Given the description of an element on the screen output the (x, y) to click on. 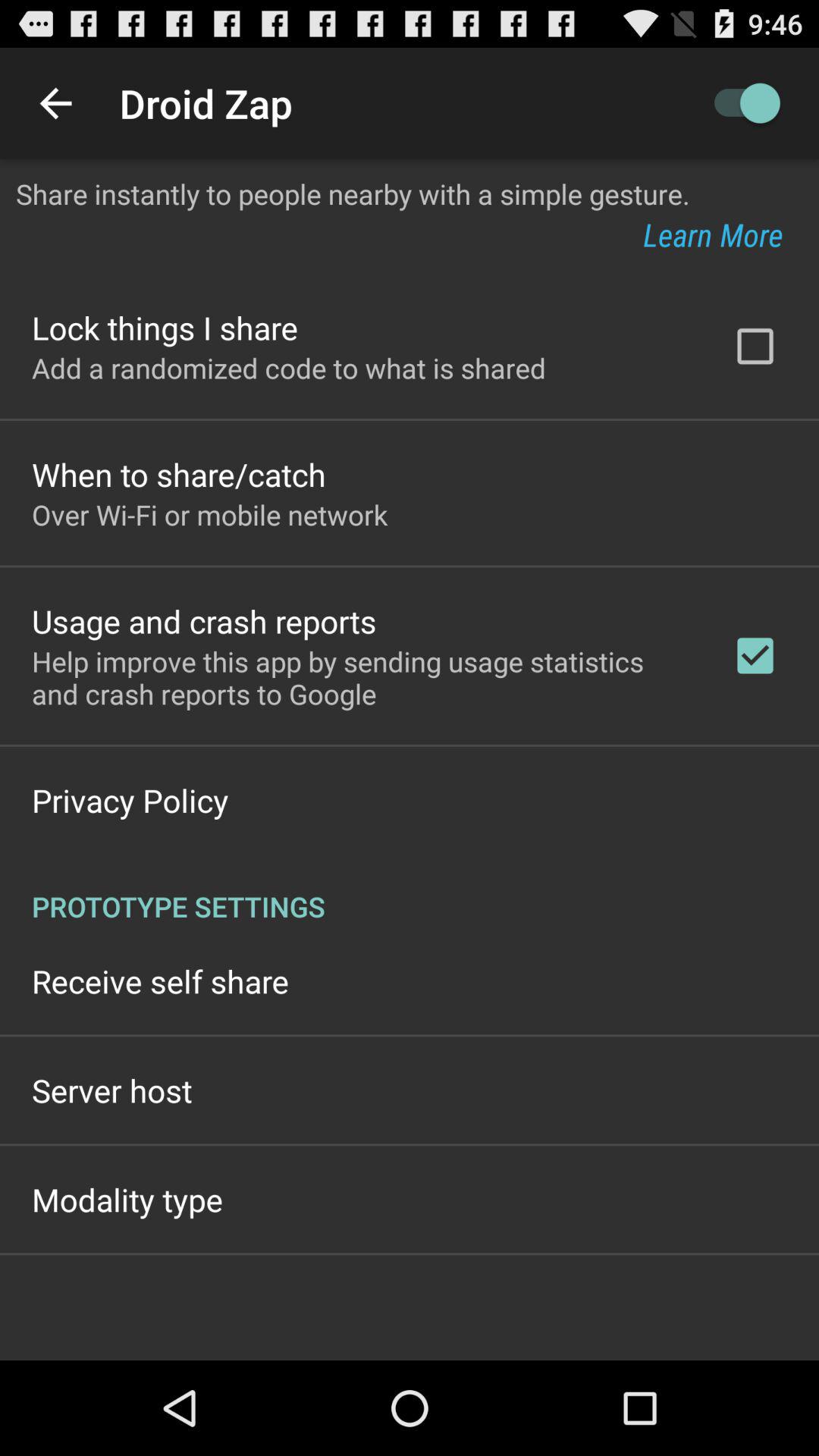
choose the item above modality type icon (111, 1089)
